Given the description of an element on the screen output the (x, y) to click on. 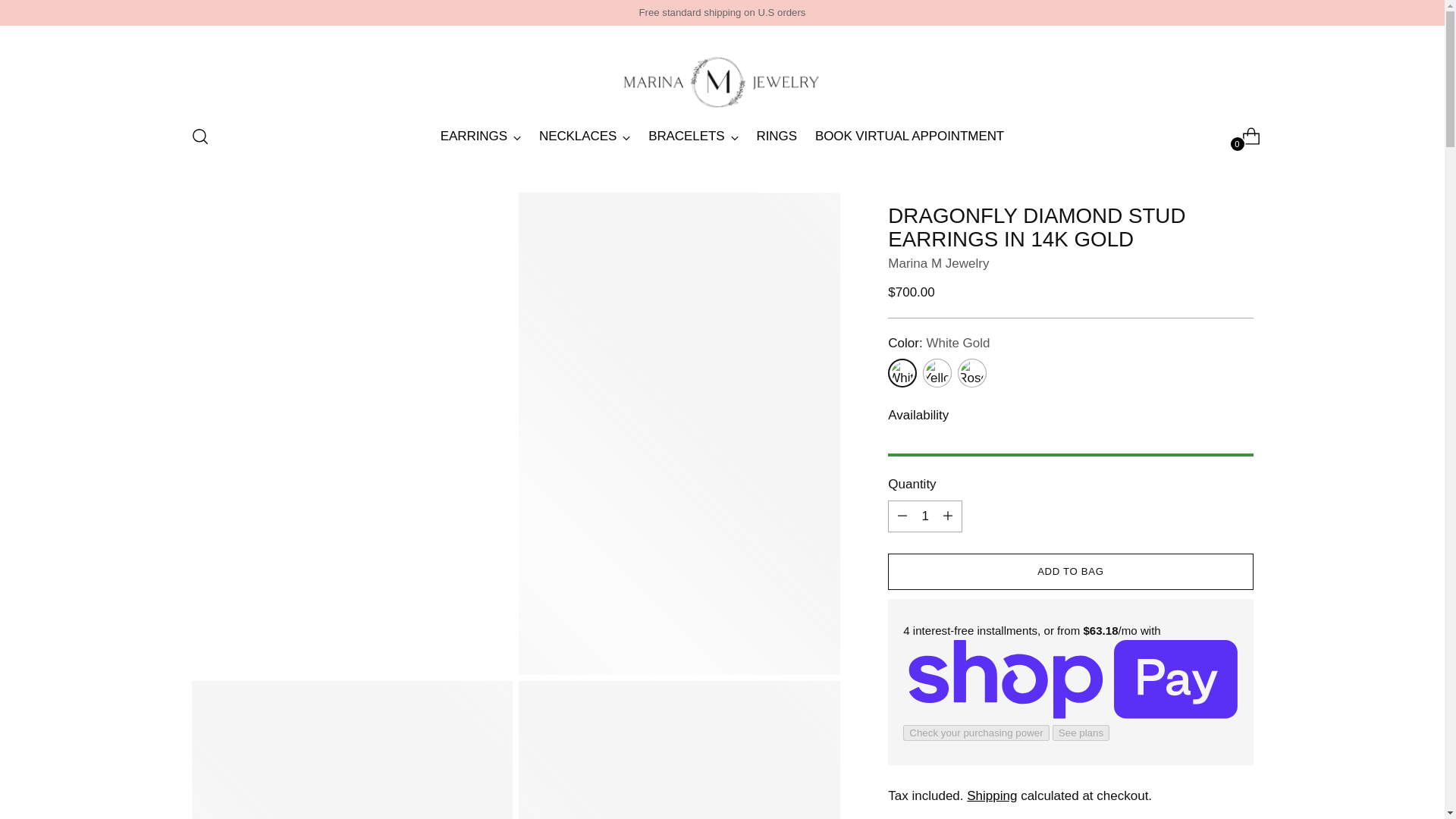
Marina M Jewelry (938, 263)
BRACELETS (692, 136)
EARRINGS (481, 136)
0 (1245, 136)
RINGS (721, 136)
1 (776, 136)
BOOK VIRTUAL APPOINTMENT (925, 516)
NECKLACES (909, 136)
